Given the description of an element on the screen output the (x, y) to click on. 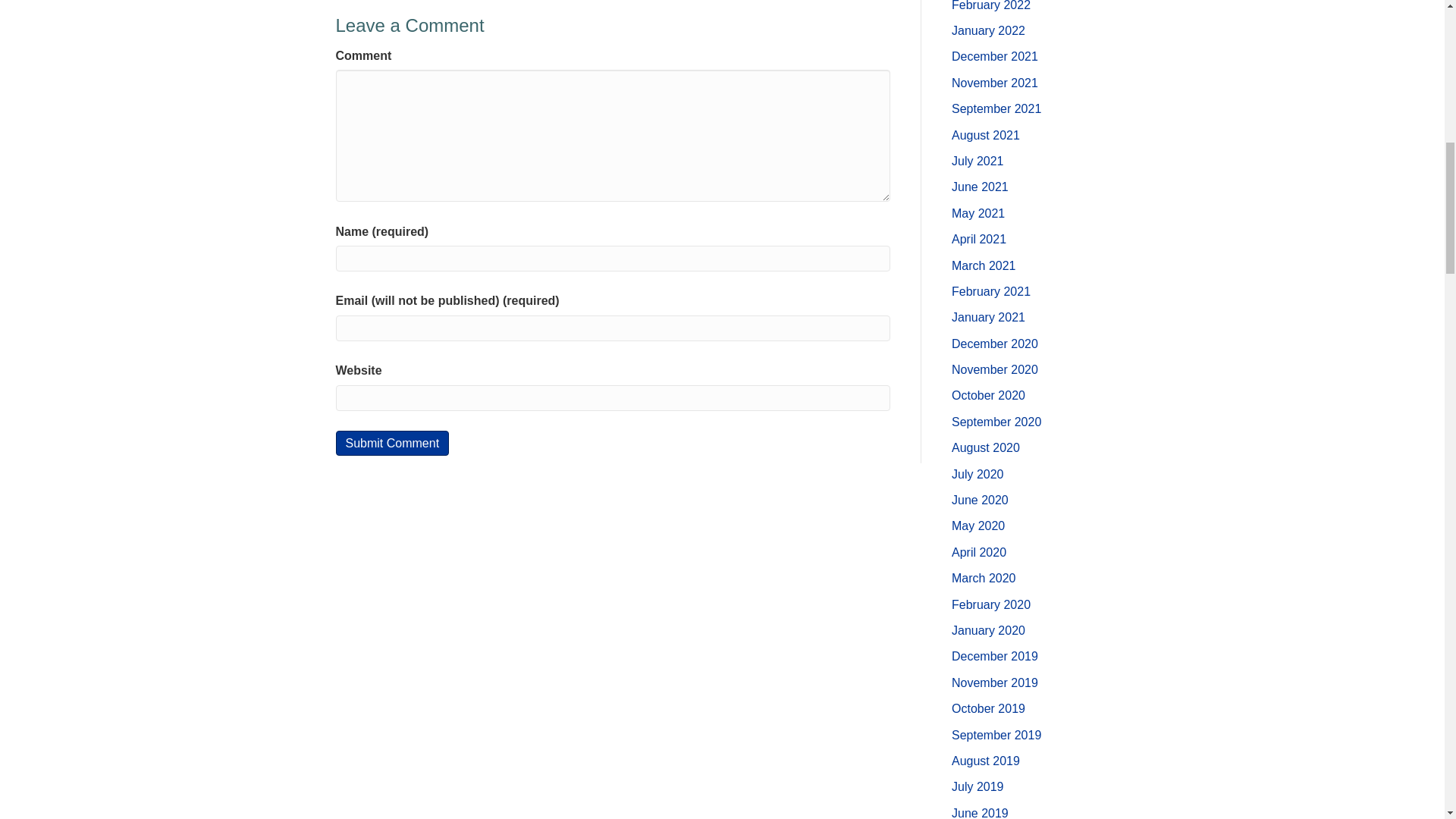
Submit Comment (391, 442)
Submit Comment (391, 442)
February 2022 (991, 5)
